Given the description of an element on the screen output the (x, y) to click on. 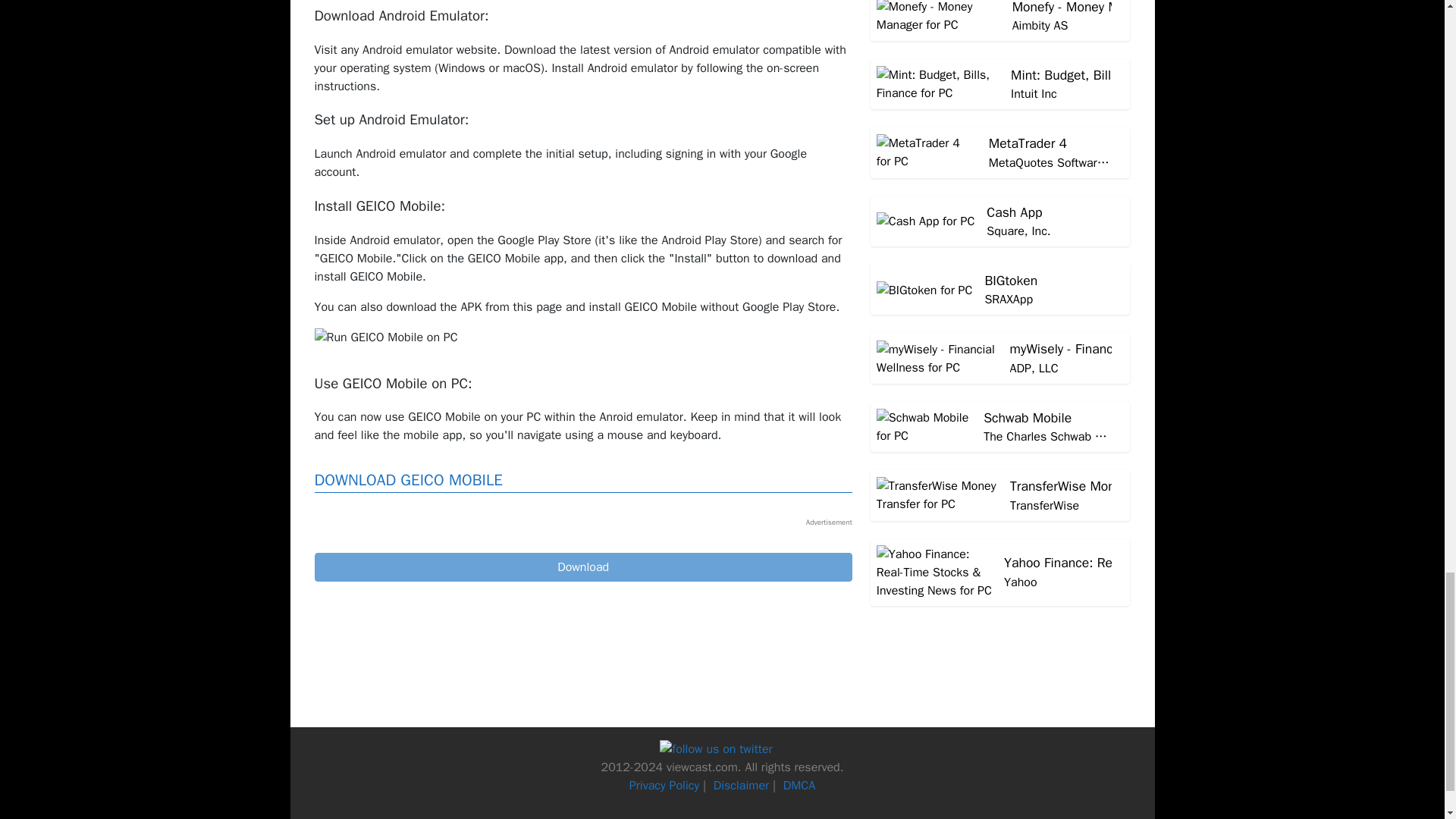
GEICO Mobile (582, 566)
Run GEICO Mobile on PC (385, 337)
Download (582, 566)
